Given the description of an element on the screen output the (x, y) to click on. 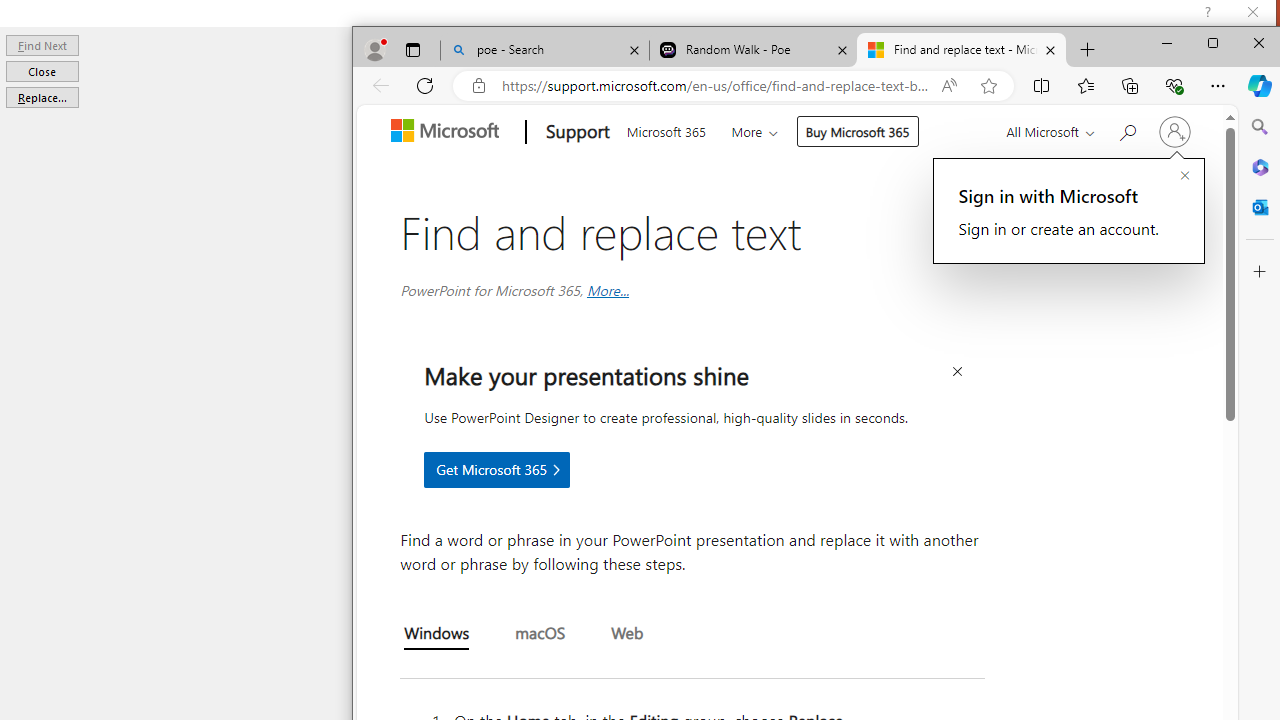
Address and search bar (715, 85)
Sign in to your account (1174, 132)
Microsoft 365 (665, 129)
Favorites (1085, 85)
Refresh (424, 85)
Outlook (1259, 206)
Buy Microsoft 365 (857, 131)
